Given the description of an element on the screen output the (x, y) to click on. 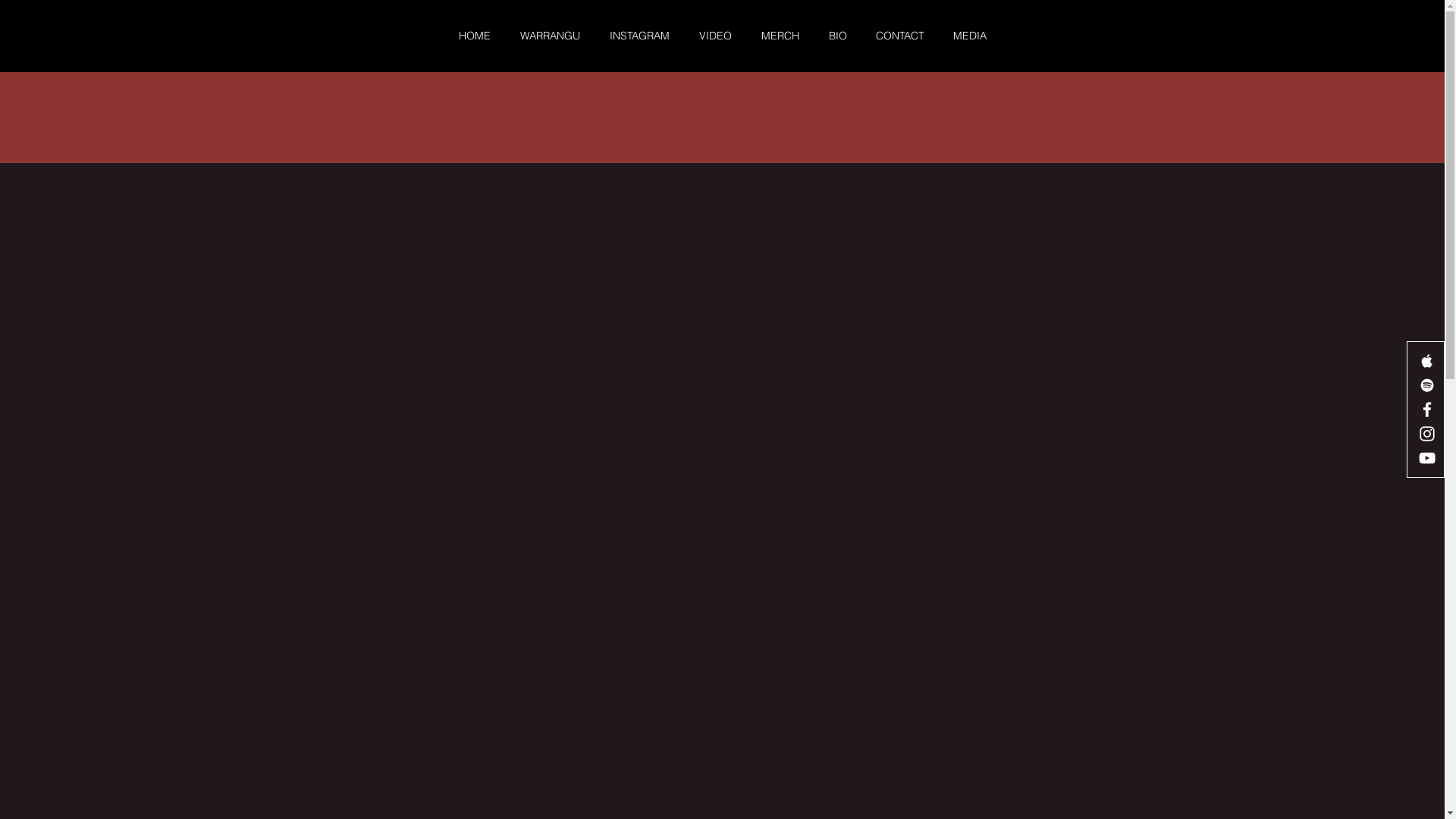
VIDEO Element type: text (715, 36)
HOME Element type: text (474, 36)
MERCH Element type: text (779, 36)
CONTACT Element type: text (899, 36)
WARRANGU Element type: text (549, 36)
MEDIA Element type: text (969, 36)
BIO Element type: text (837, 36)
INSTAGRAM Element type: text (639, 36)
